Given the description of an element on the screen output the (x, y) to click on. 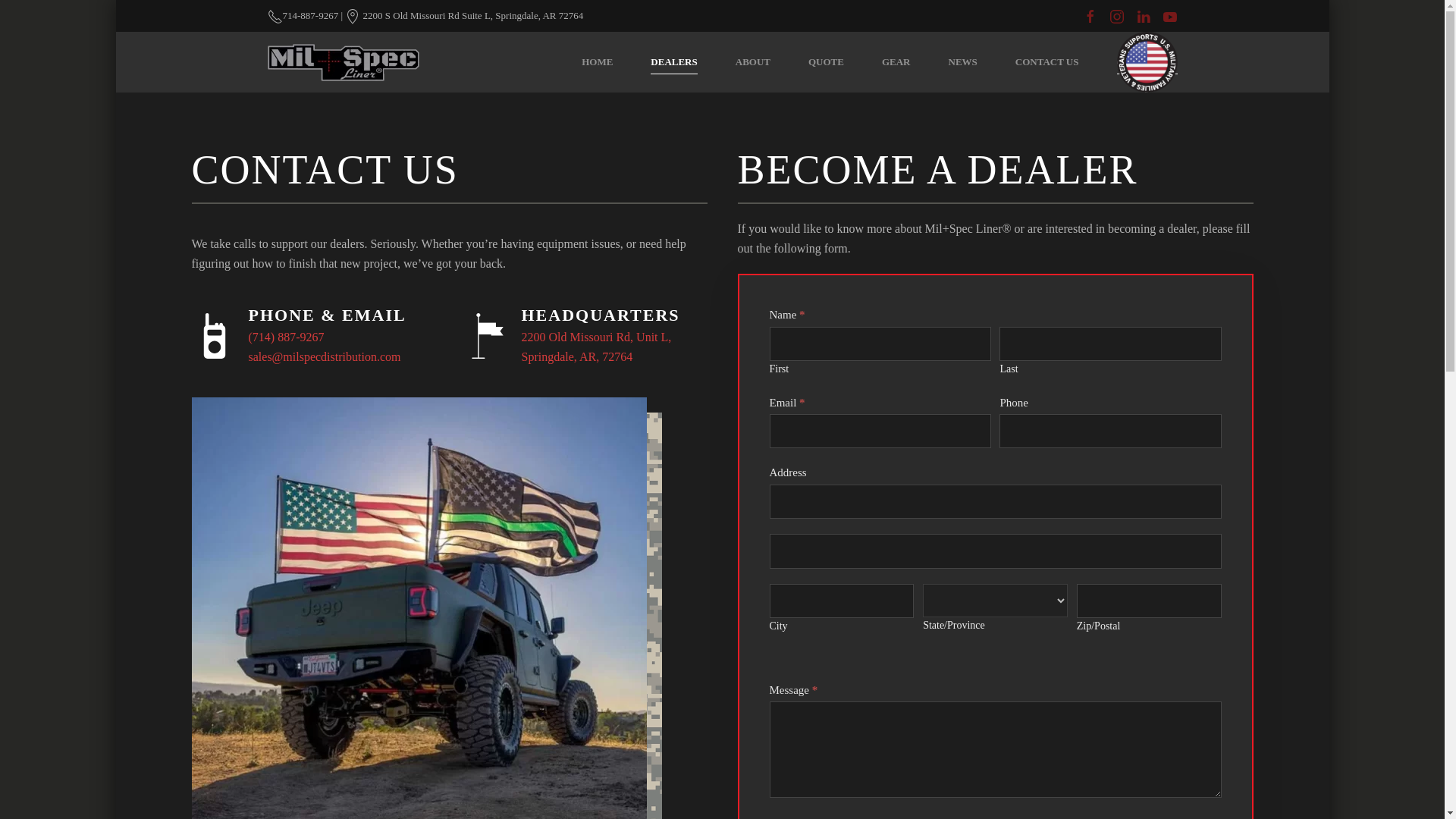
DEALERS (673, 61)
HOME (596, 61)
714-887-9267 (301, 15)
2200 S Old Missouri Rd Suite L, Springdale, AR 72764 (464, 15)
ABOUT (752, 61)
